Given the description of an element on the screen output the (x, y) to click on. 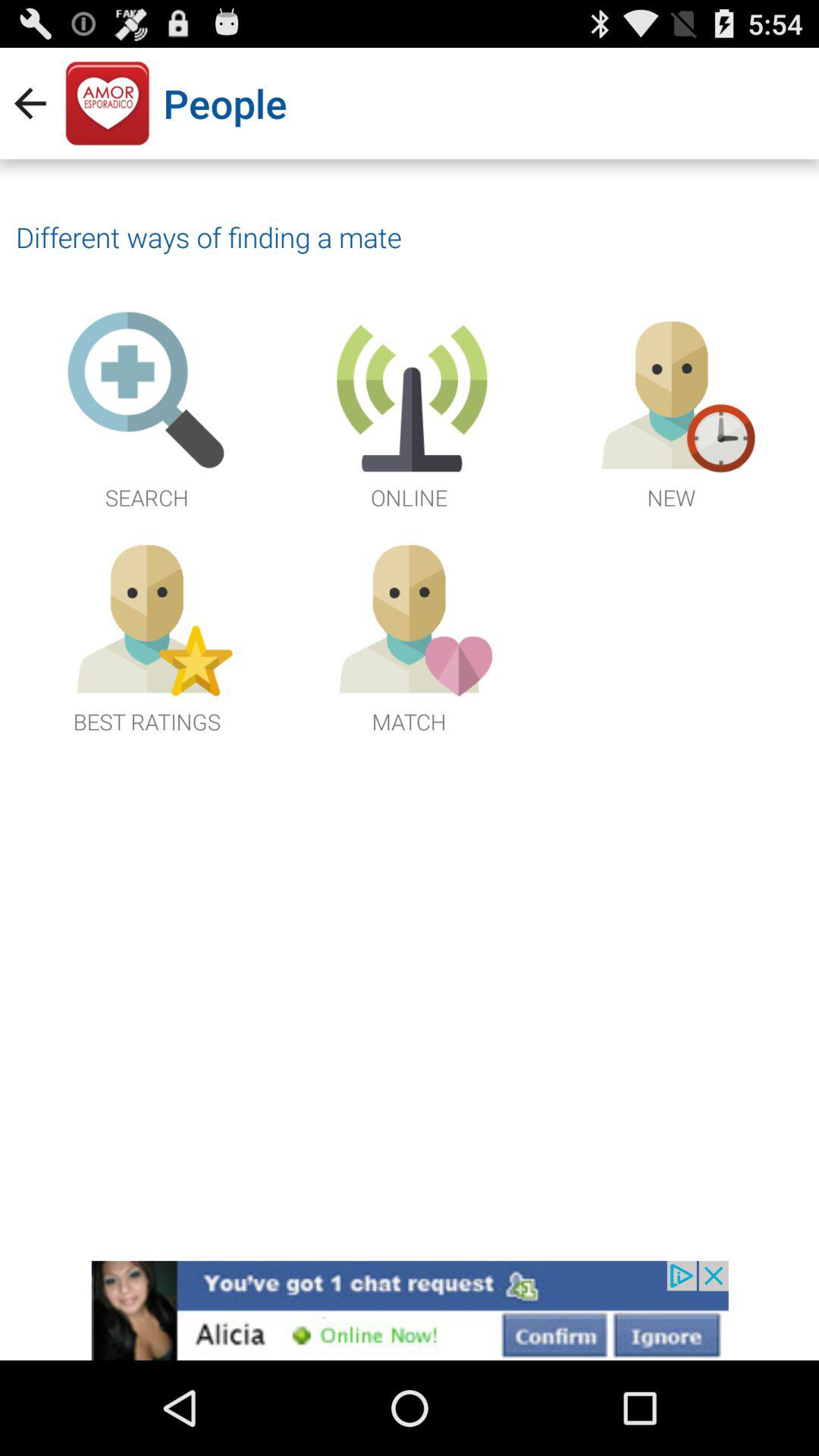
advertisement website (409, 1310)
